Given the description of an element on the screen output the (x, y) to click on. 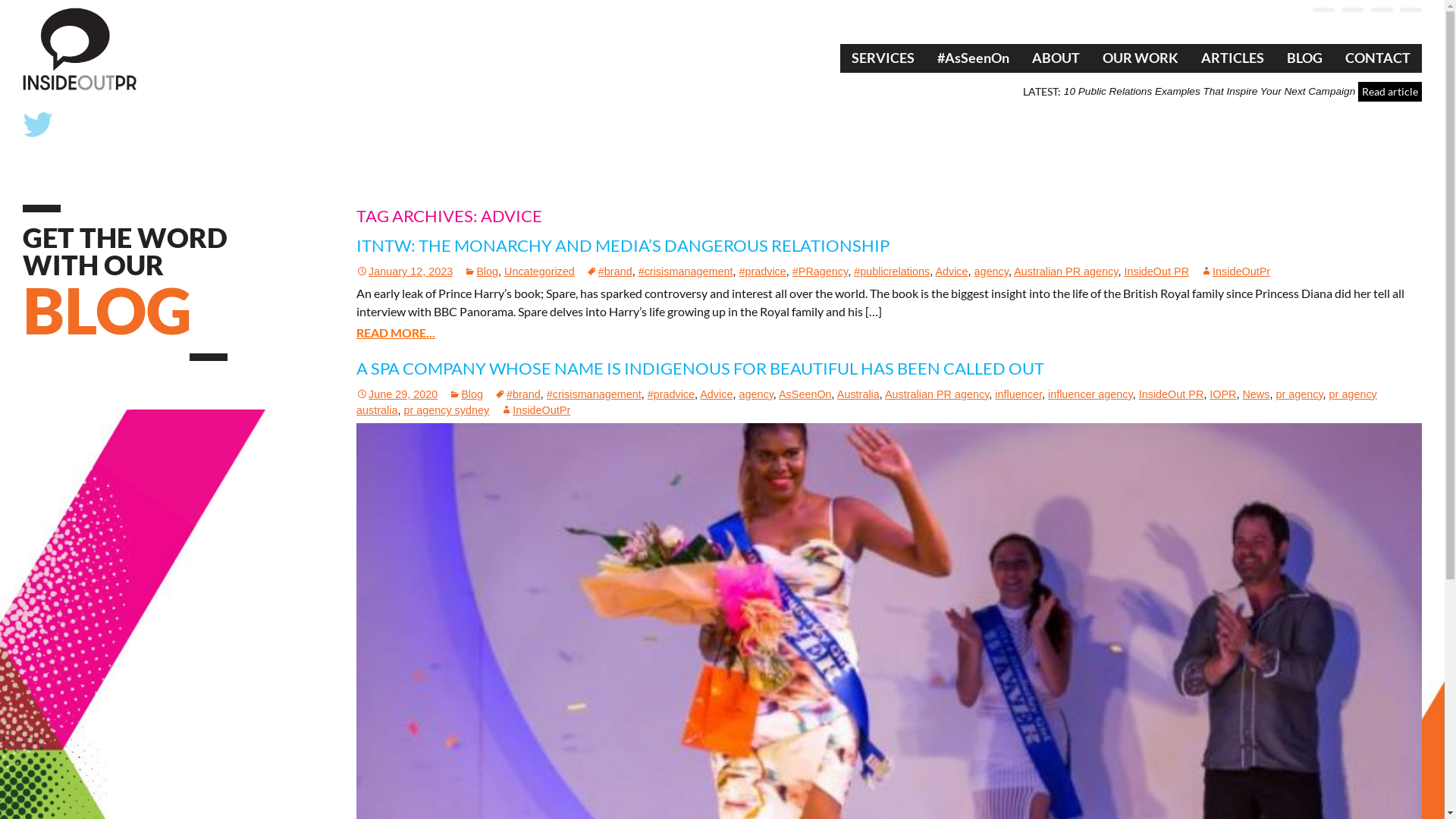
InsideOutPr Element type: text (535, 410)
OUR WORK Element type: text (1140, 57)
Read article Element type: text (1389, 91)
January 12, 2023 Element type: text (404, 271)
News Element type: text (1255, 394)
influencer agency Element type: text (1090, 394)
Blog Element type: text (465, 394)
#PRagency Element type: text (819, 271)
Australia Element type: text (858, 394)
agency Element type: text (991, 271)
#AsSeenOn Element type: text (973, 57)
influencer Element type: text (1017, 394)
Advice Element type: text (951, 271)
#brand Element type: text (609, 271)
#pradvice Element type: text (761, 271)
BLOG Element type: text (1304, 57)
AsSeenOn Element type: text (804, 394)
InsideOut PR Element type: text (1156, 271)
#pradvice Element type: text (670, 394)
Australian PR agency Element type: text (936, 394)
IOPR Element type: text (1222, 394)
Advice Element type: text (715, 394)
June 29, 2020 Element type: text (396, 394)
pr agency sydney Element type: text (446, 410)
pr agency australia Element type: text (866, 402)
CONTACT Element type: text (1377, 57)
pr agency Element type: text (1298, 394)
#crisismanagement Element type: text (593, 394)
PR Agency Sydney Element type: hover (79, 47)
Skip to content Element type: text (881, 52)
InsideOut PR Element type: text (1171, 394)
READ MORE... Element type: text (395, 332)
#publicrelations Element type: text (891, 271)
agency Element type: text (755, 394)
#brand Element type: text (517, 394)
SERVICES Element type: text (882, 57)
ARTICLES Element type: text (1232, 57)
#crisismanagement Element type: text (685, 271)
InsideOutPr Element type: text (1235, 271)
Australian PR agency Element type: text (1065, 271)
ABOUT Element type: text (1055, 57)
Blog Element type: text (481, 271)
Uncategorized Element type: text (539, 271)
